Given the description of an element on the screen output the (x, y) to click on. 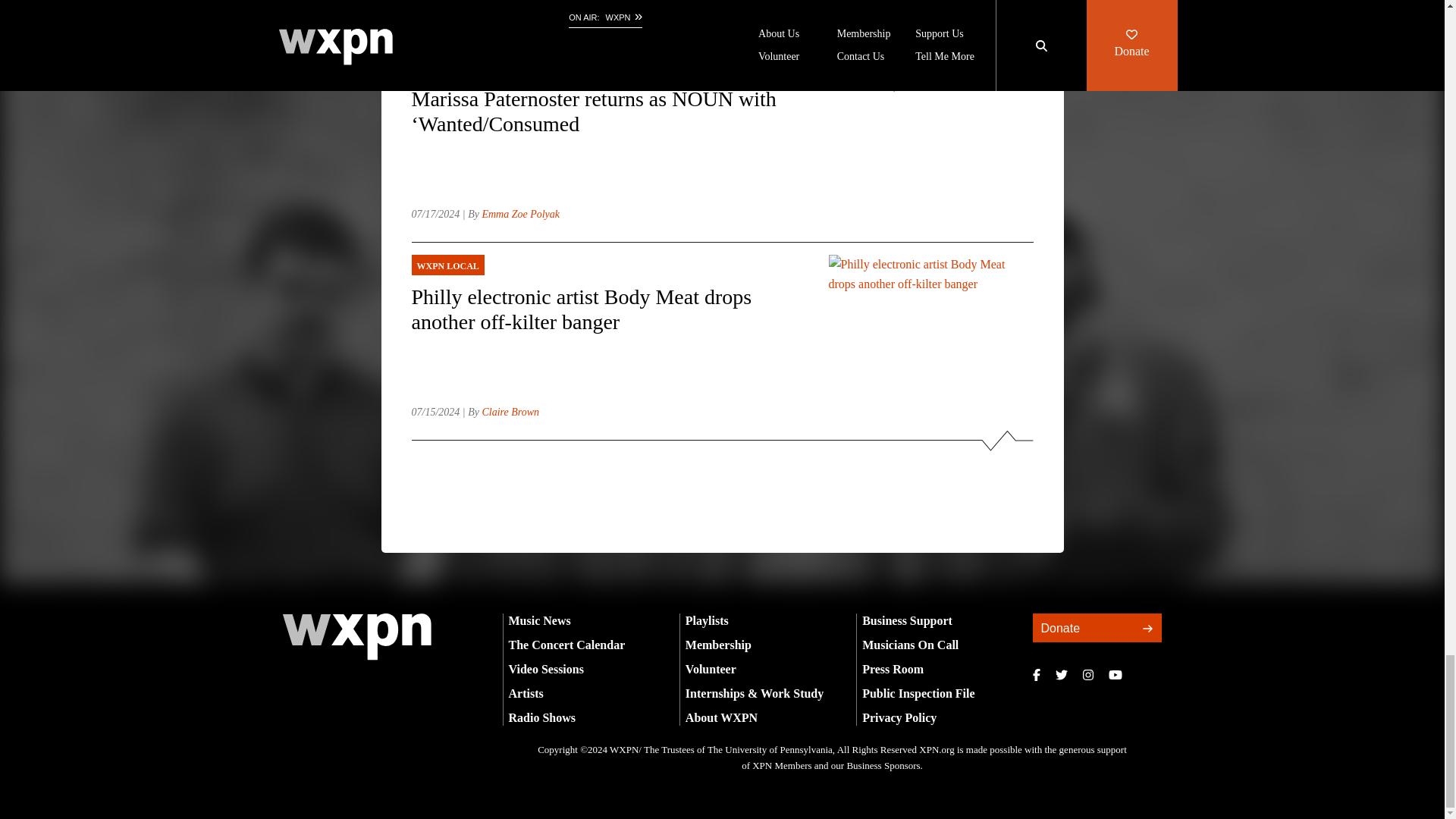
WXPN LOCAL (606, 66)
WXPN LOCAL (606, 265)
John Vettese (507, 16)
Emma Zoe Polyak (520, 214)
